Given the description of an element on the screen output the (x, y) to click on. 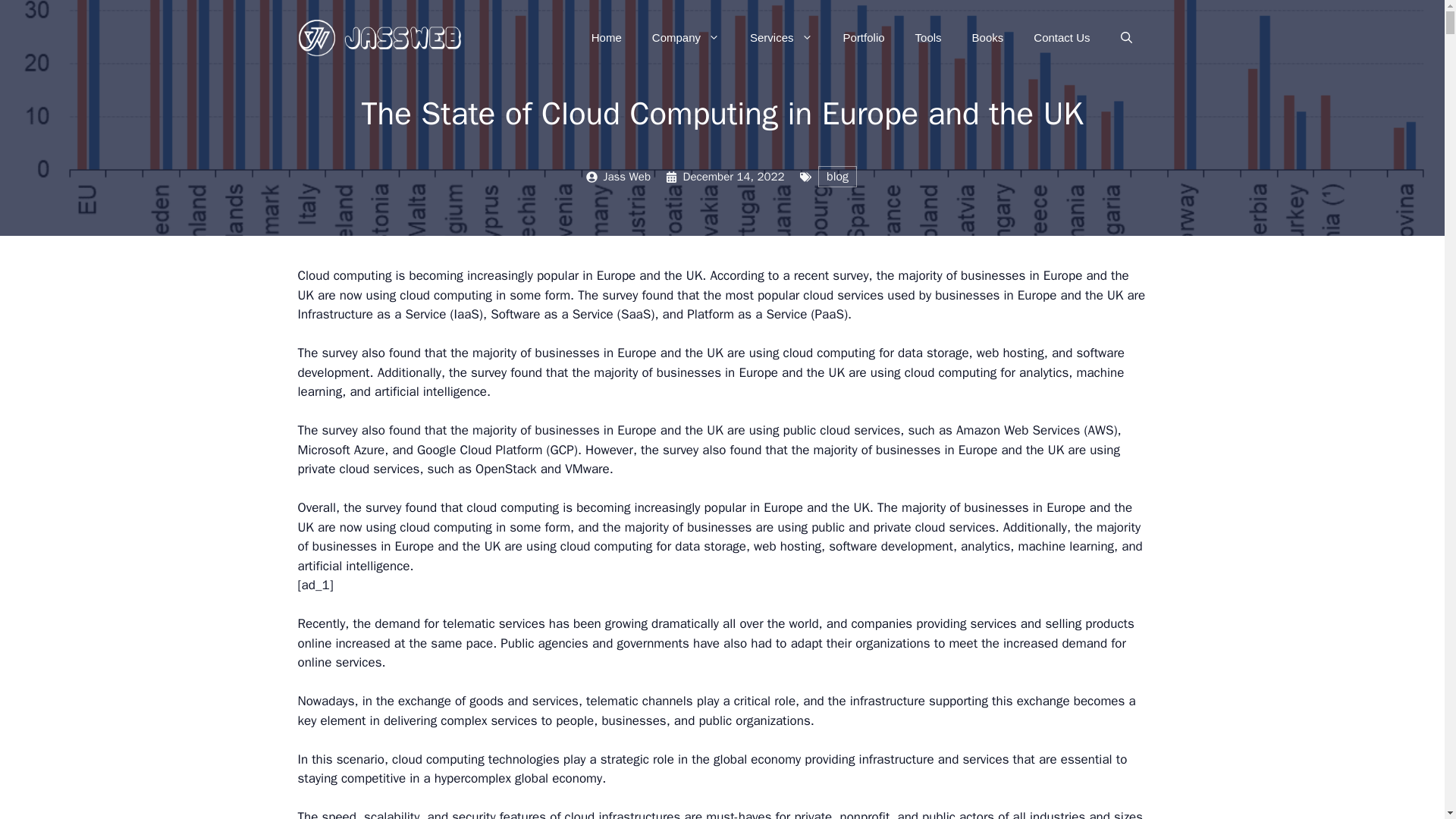
Jassweb (380, 36)
blog (837, 176)
Jassweb (380, 37)
Services (781, 37)
Contact Us (1061, 37)
Portfolio (863, 37)
Tools (927, 37)
Home (606, 37)
Company (686, 37)
Books (987, 37)
